Given the description of an element on the screen output the (x, y) to click on. 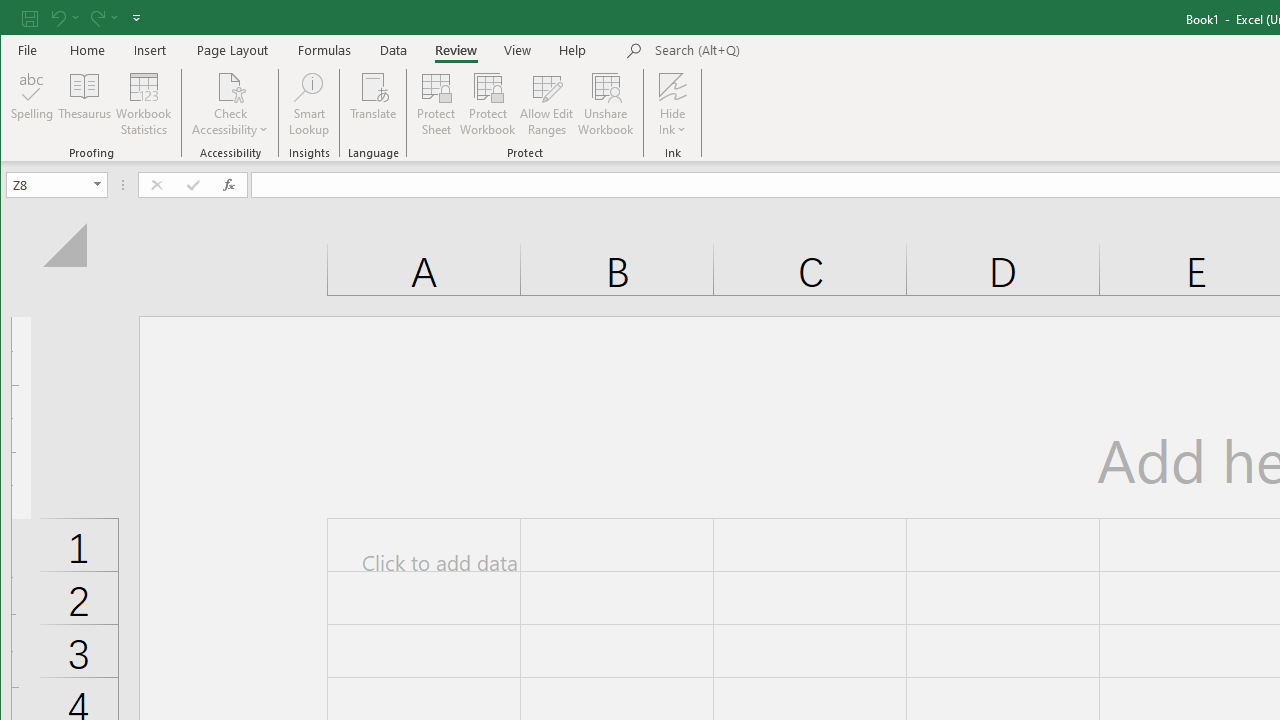
Thesaurus... (84, 104)
Workbook Statistics (143, 104)
Allow Edit Ranges (547, 104)
Hide Ink (672, 104)
Protect Sheet... (436, 104)
Protect Workbook... (488, 104)
Hide Ink (672, 86)
Check Accessibility (230, 86)
